Given the description of an element on the screen output the (x, y) to click on. 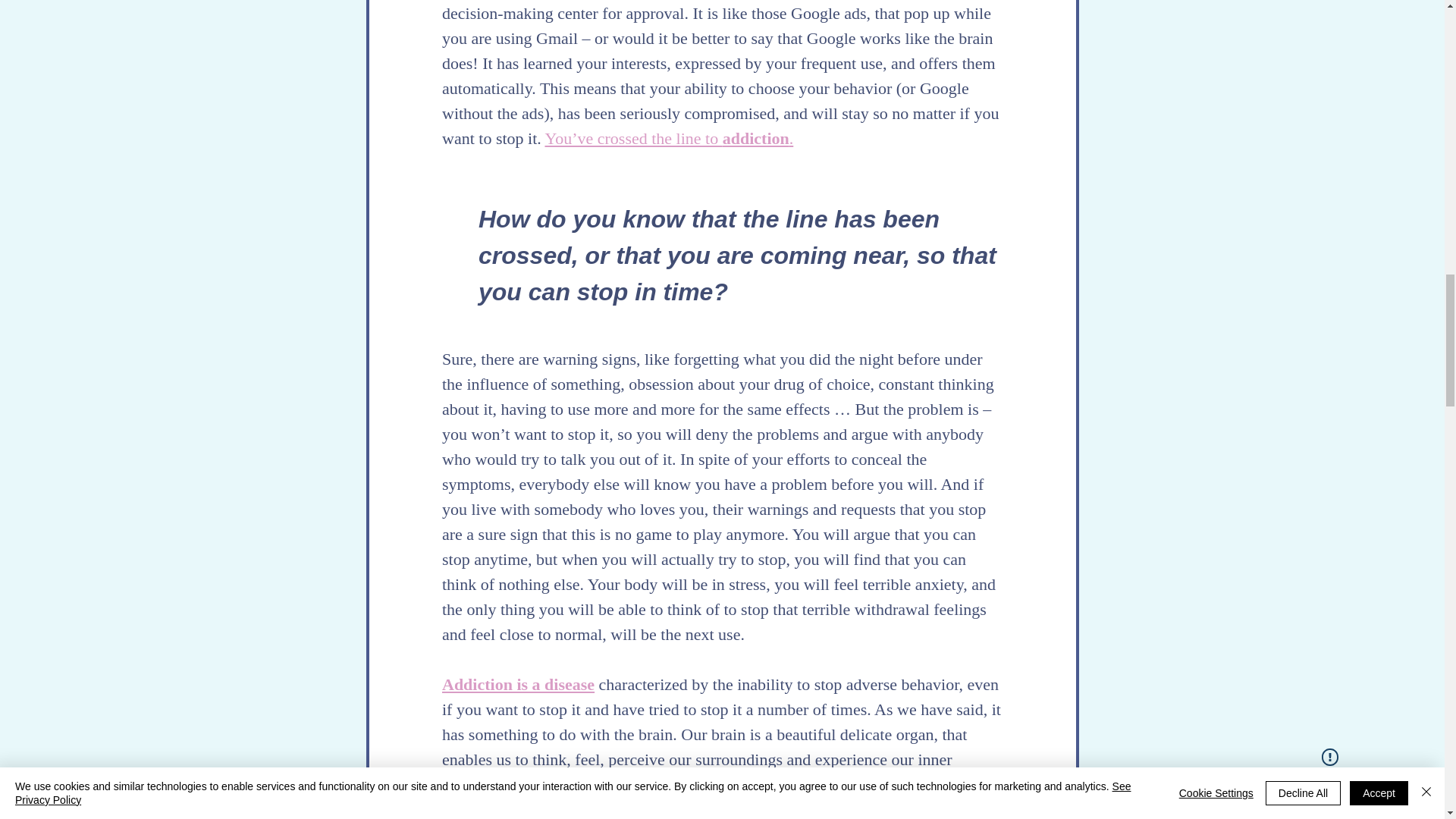
addiction (755, 138)
Addiction is a disease (517, 683)
